Given the description of an element on the screen output the (x, y) to click on. 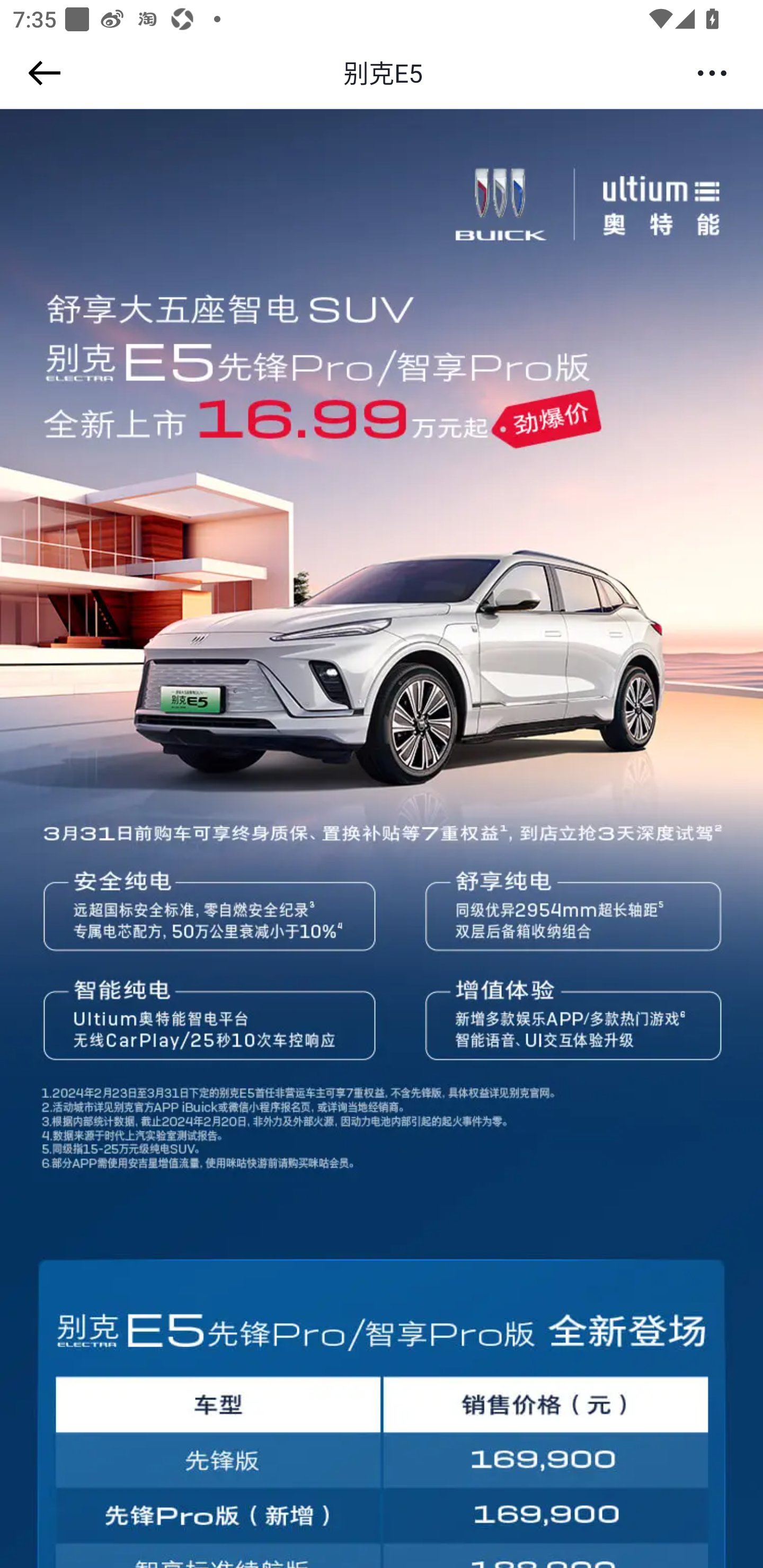
 (41, 72)
